Given the description of an element on the screen output the (x, y) to click on. 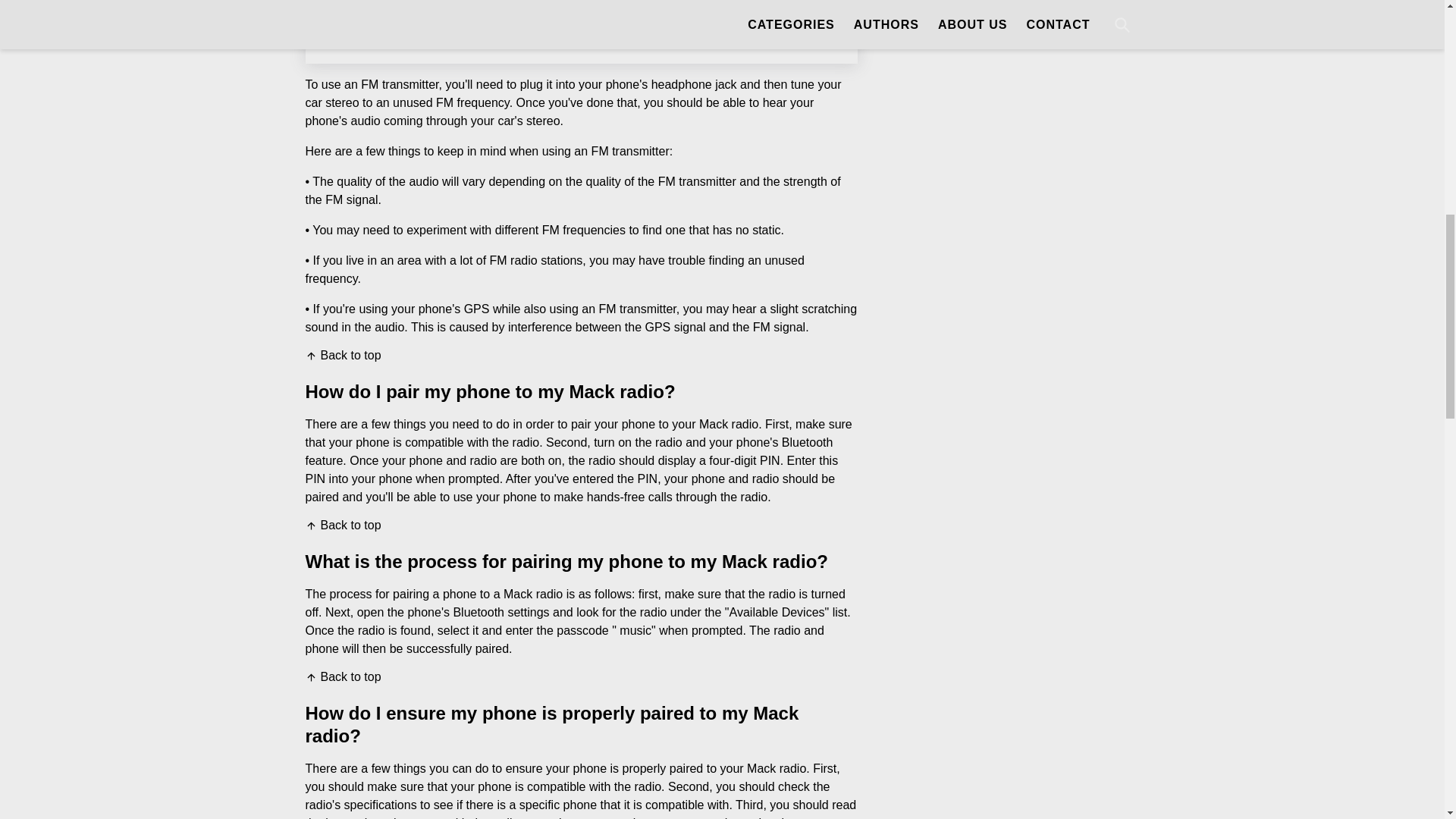
Back to top (342, 355)
Back to top (342, 525)
What is the process for pairing my phone to my Mack radio? (508, 5)
Back to top (342, 676)
